Given the description of an element on the screen output the (x, y) to click on. 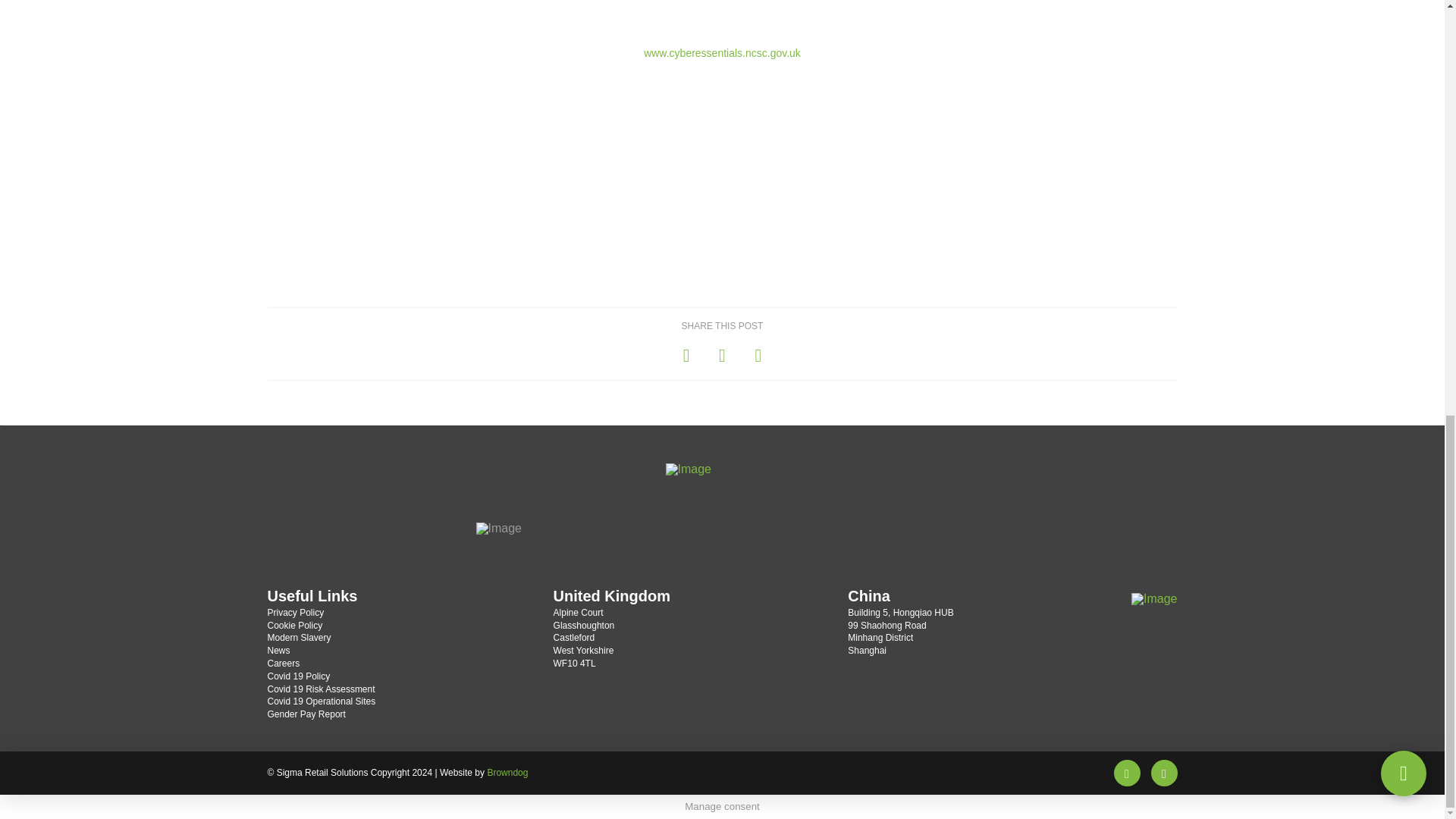
Share on Twitter (721, 355)
Share on Facebook (686, 355)
Share on LinkedIn (757, 355)
